Given the description of an element on the screen output the (x, y) to click on. 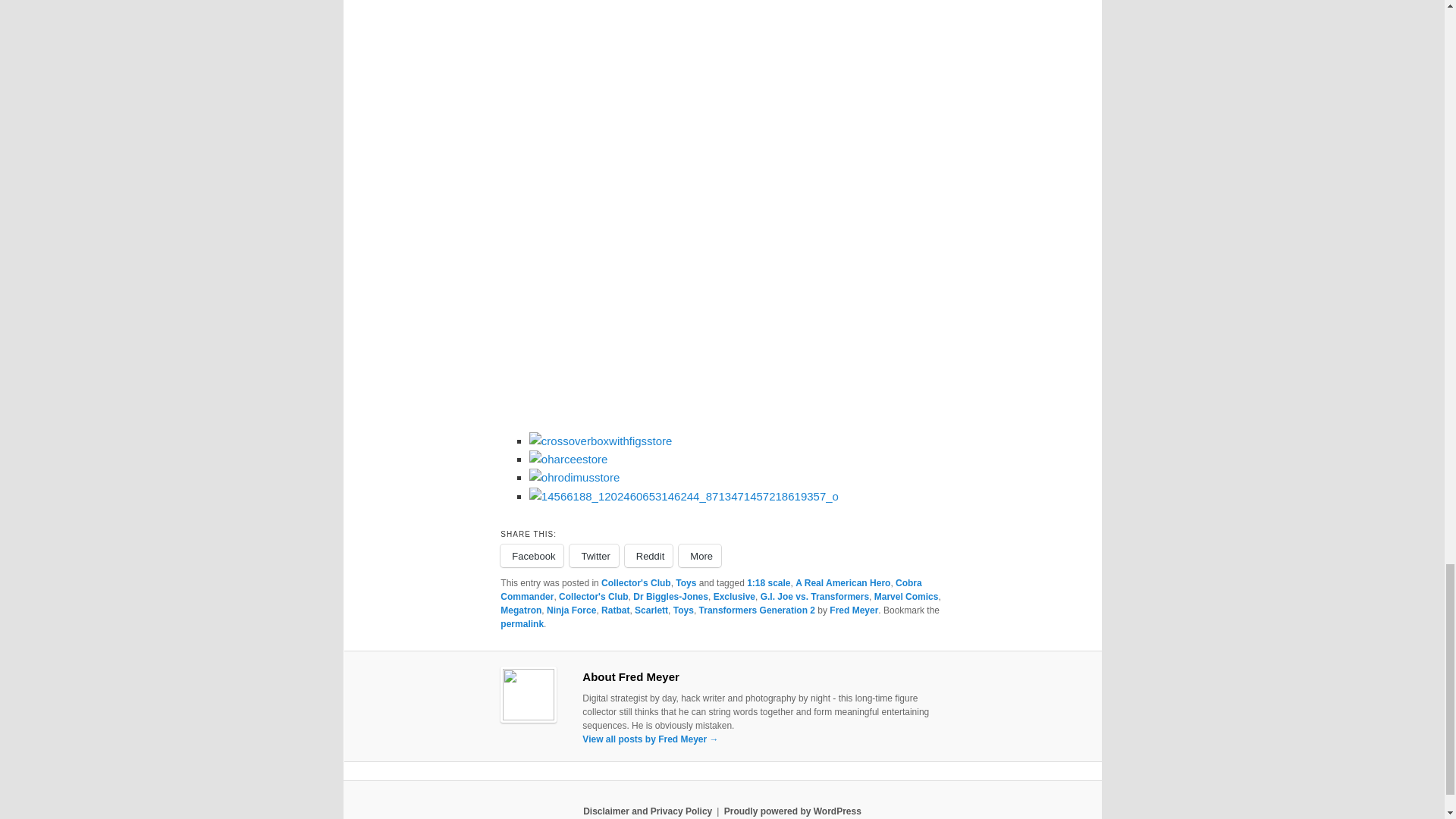
ohrodimusstore (574, 477)
Click to share on Facebook (531, 555)
oharceestore (568, 459)
crossoverboxwithfigsstore (600, 441)
Click to share on Twitter (593, 555)
